Given the description of an element on the screen output the (x, y) to click on. 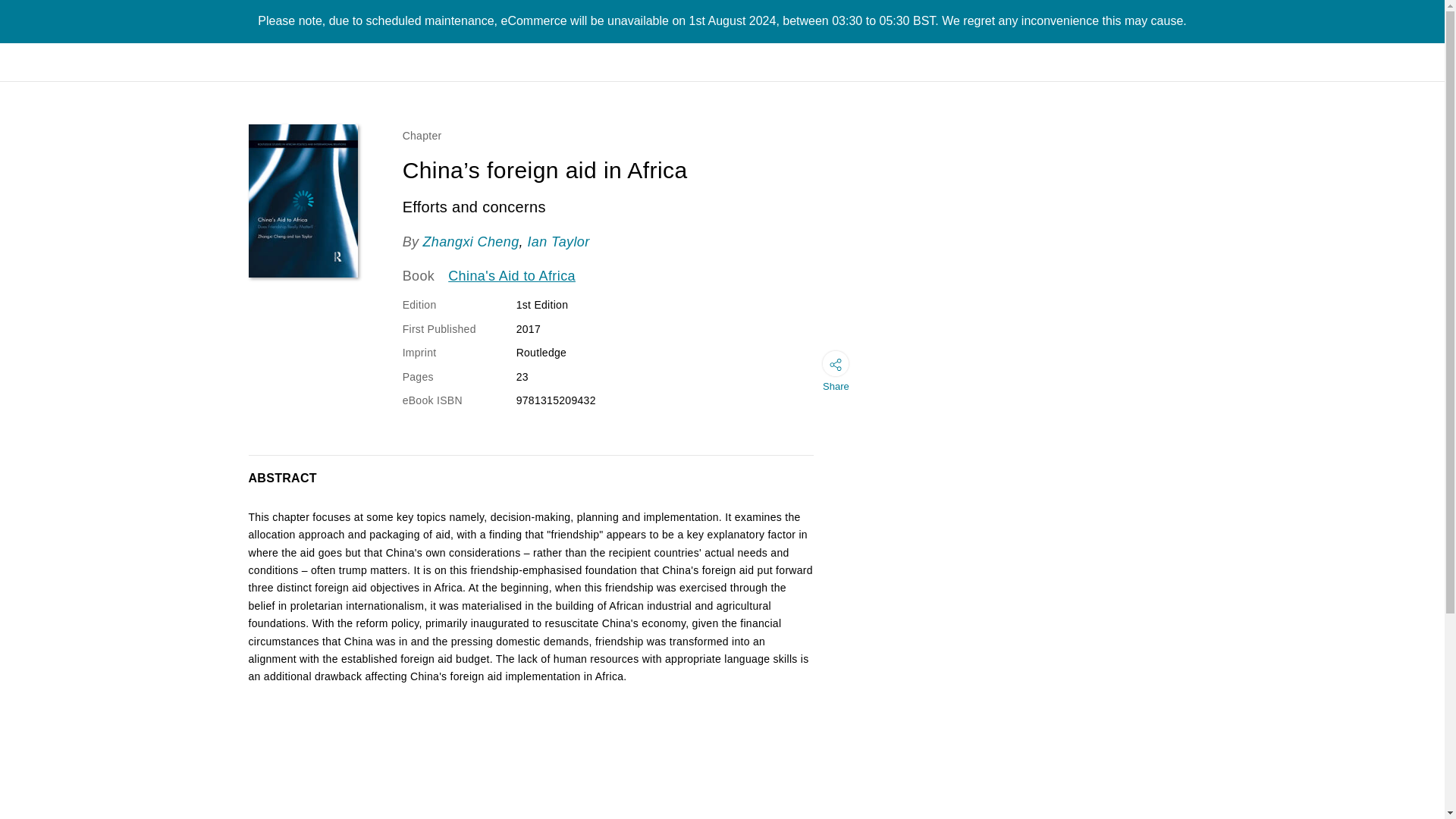
Ian Taylor (558, 241)
China's Aid to Africa (511, 276)
Zhangxi Cheng (470, 241)
